Given the description of an element on the screen output the (x, y) to click on. 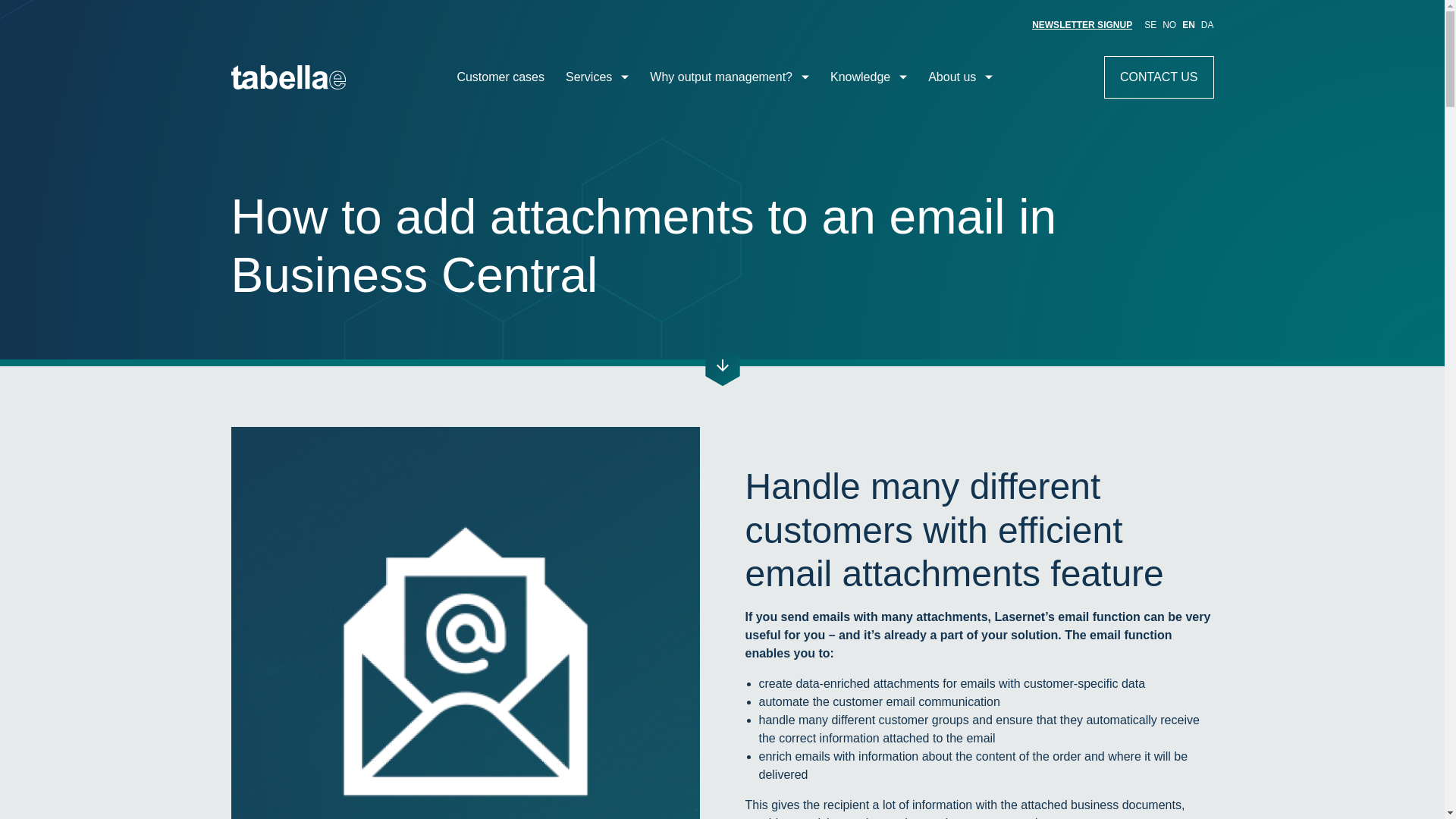
Services (597, 76)
Knowledge (868, 76)
EN (1188, 24)
Why output management? (729, 76)
Customer cases (500, 76)
DA (1207, 24)
About us (960, 76)
NO (1168, 24)
